Given the description of an element on the screen output the (x, y) to click on. 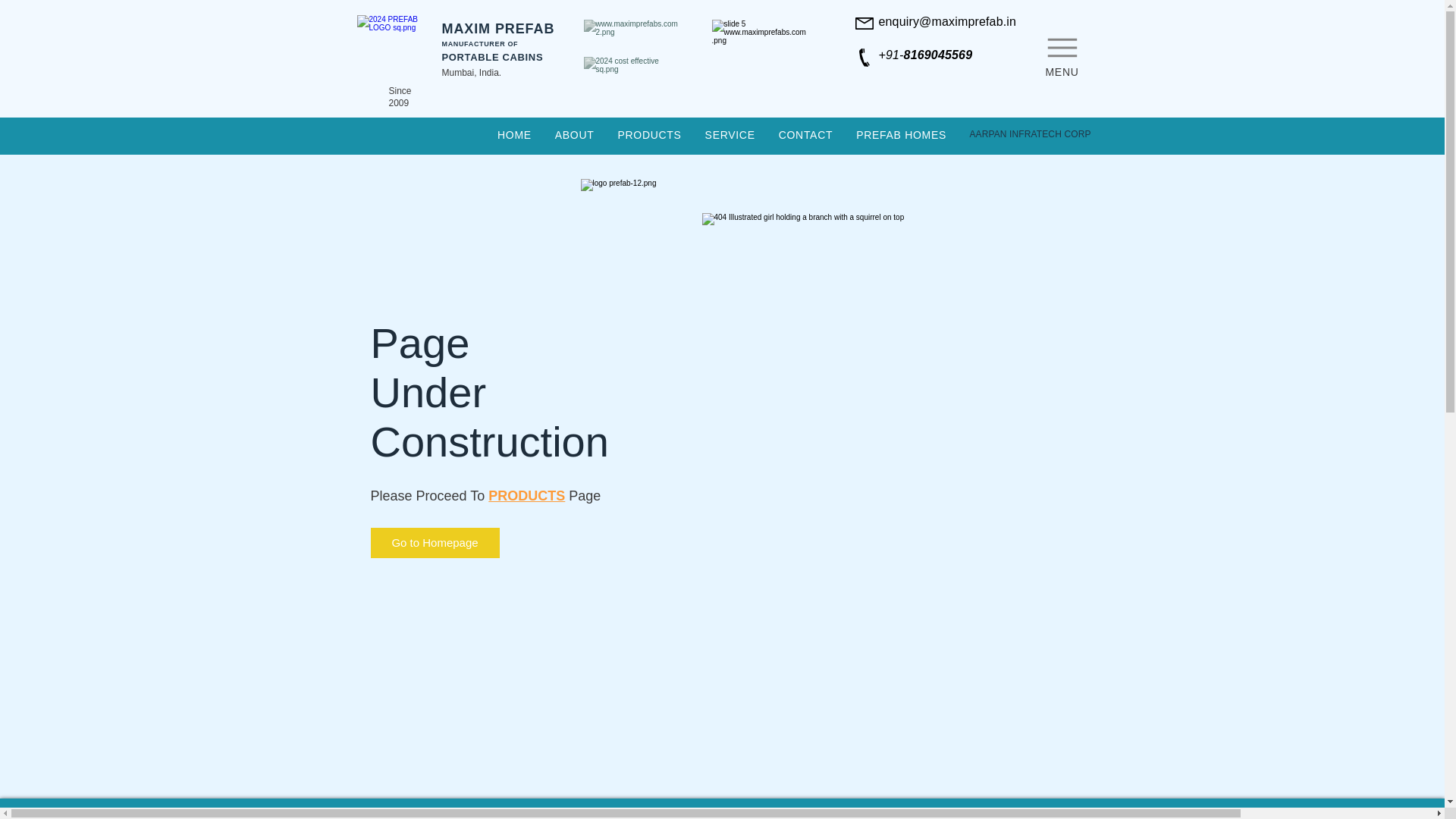
ABOUT (574, 134)
PREFAB HOMES (901, 134)
HOME (513, 134)
SERVICE (728, 134)
MENU (1061, 52)
CONTACT (805, 134)
PRODUCTS (649, 134)
